Given the description of an element on the screen output the (x, y) to click on. 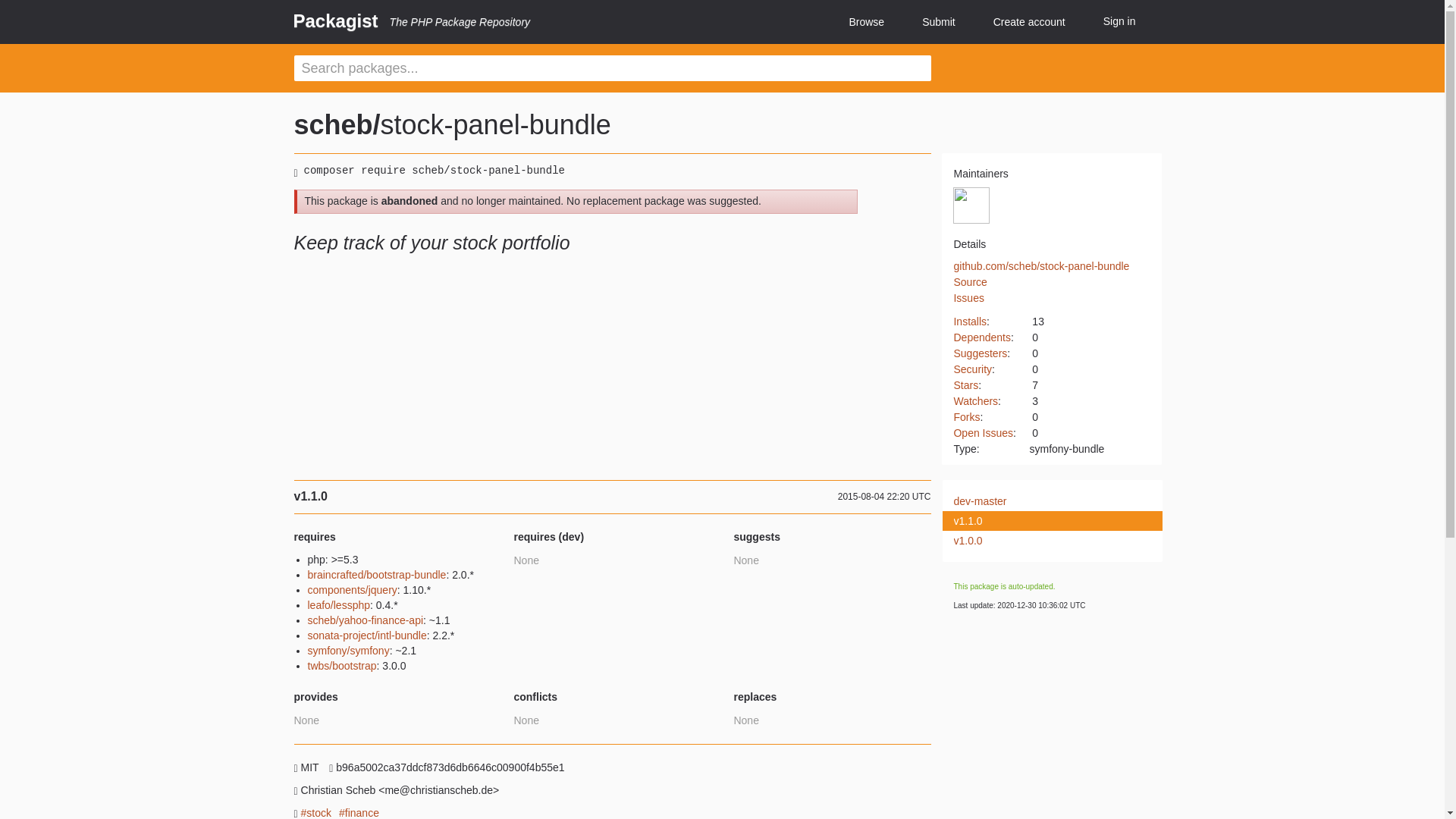
Watchers (975, 400)
Submit (938, 22)
Stars (965, 385)
Sign in (1119, 21)
Forks (966, 417)
finance (358, 812)
Source (970, 282)
Open Issues (983, 432)
dev-master (1043, 502)
Security (972, 369)
Issues (968, 297)
Browse (865, 22)
v1.0.0 (1043, 541)
Dependents (981, 337)
Canonical Repository URL (1041, 265)
